Given the description of an element on the screen output the (x, y) to click on. 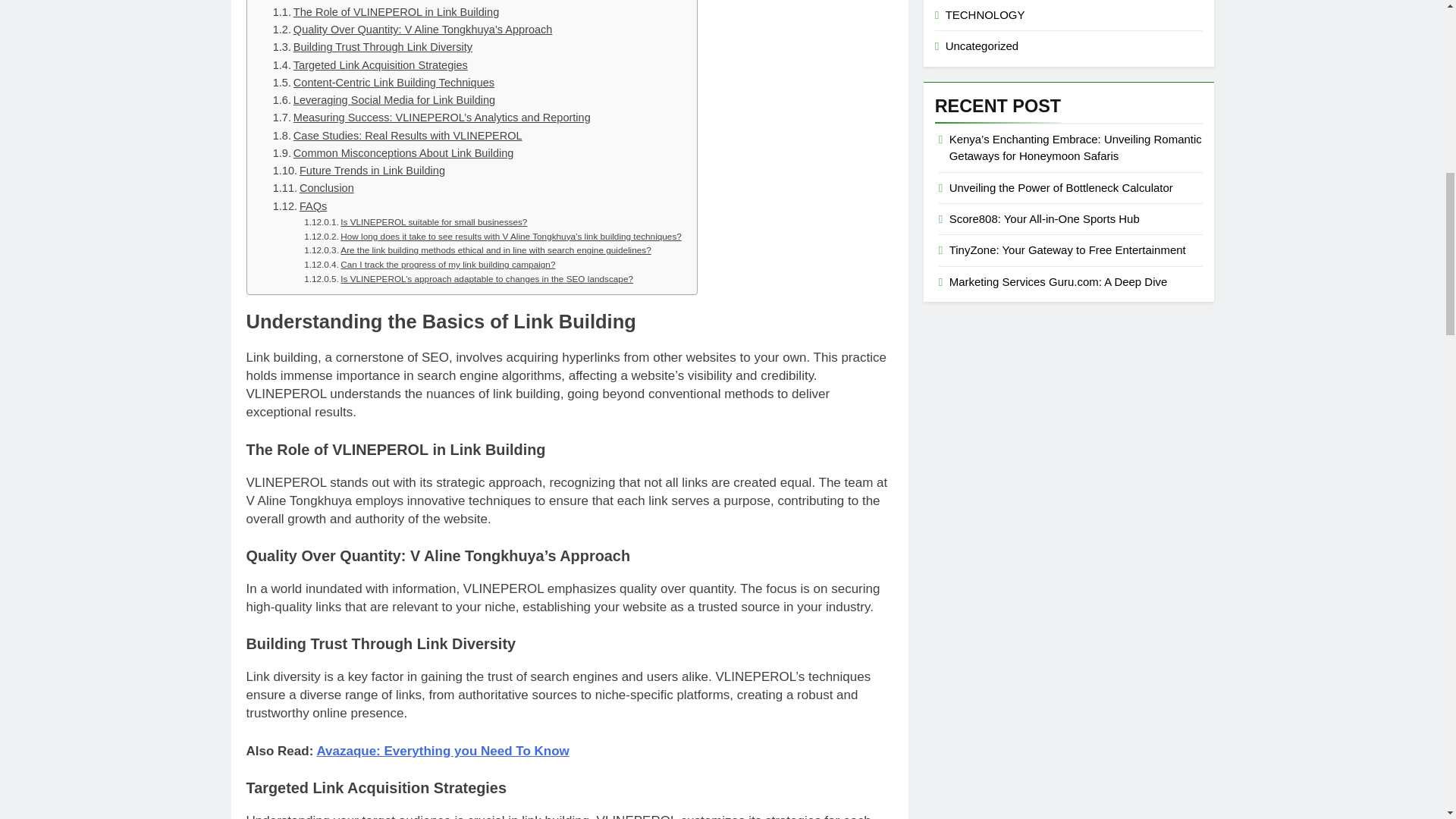
FAQs (300, 206)
Case Studies: Real Results with VLINEPEROL (397, 135)
Understanding the Basics of Link Building (373, 2)
Leveraging Social Media for Link Building (384, 99)
Building Trust Through Link Diversity (372, 47)
Targeted Link Acquisition Strategies (370, 65)
The Role of VLINEPEROL in Link Building (386, 12)
Content-Centric Link Building Techniques (384, 82)
Understanding the Basics of Link Building (373, 2)
The Role of VLINEPEROL in Link Building (386, 12)
